Given the description of an element on the screen output the (x, y) to click on. 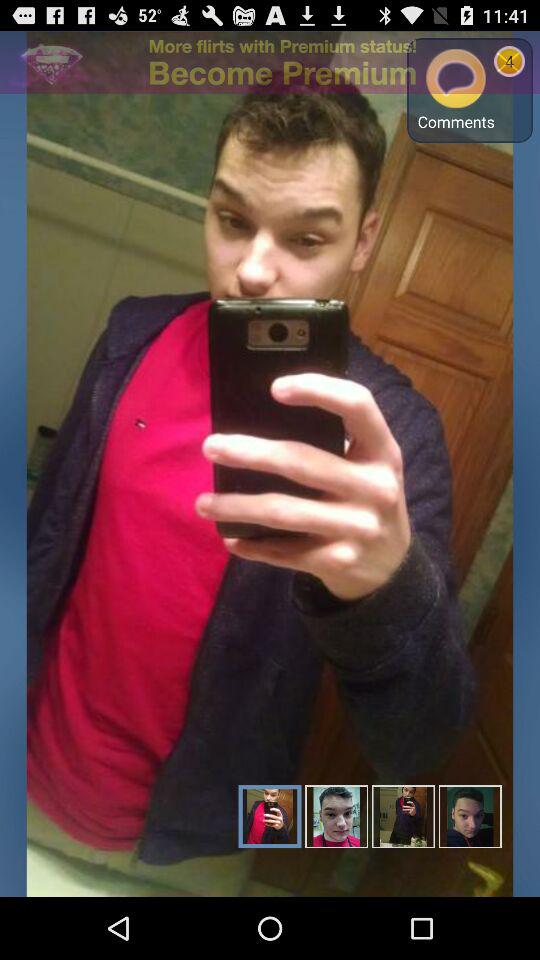
click comments button (456, 90)
